Given the description of an element on the screen output the (x, y) to click on. 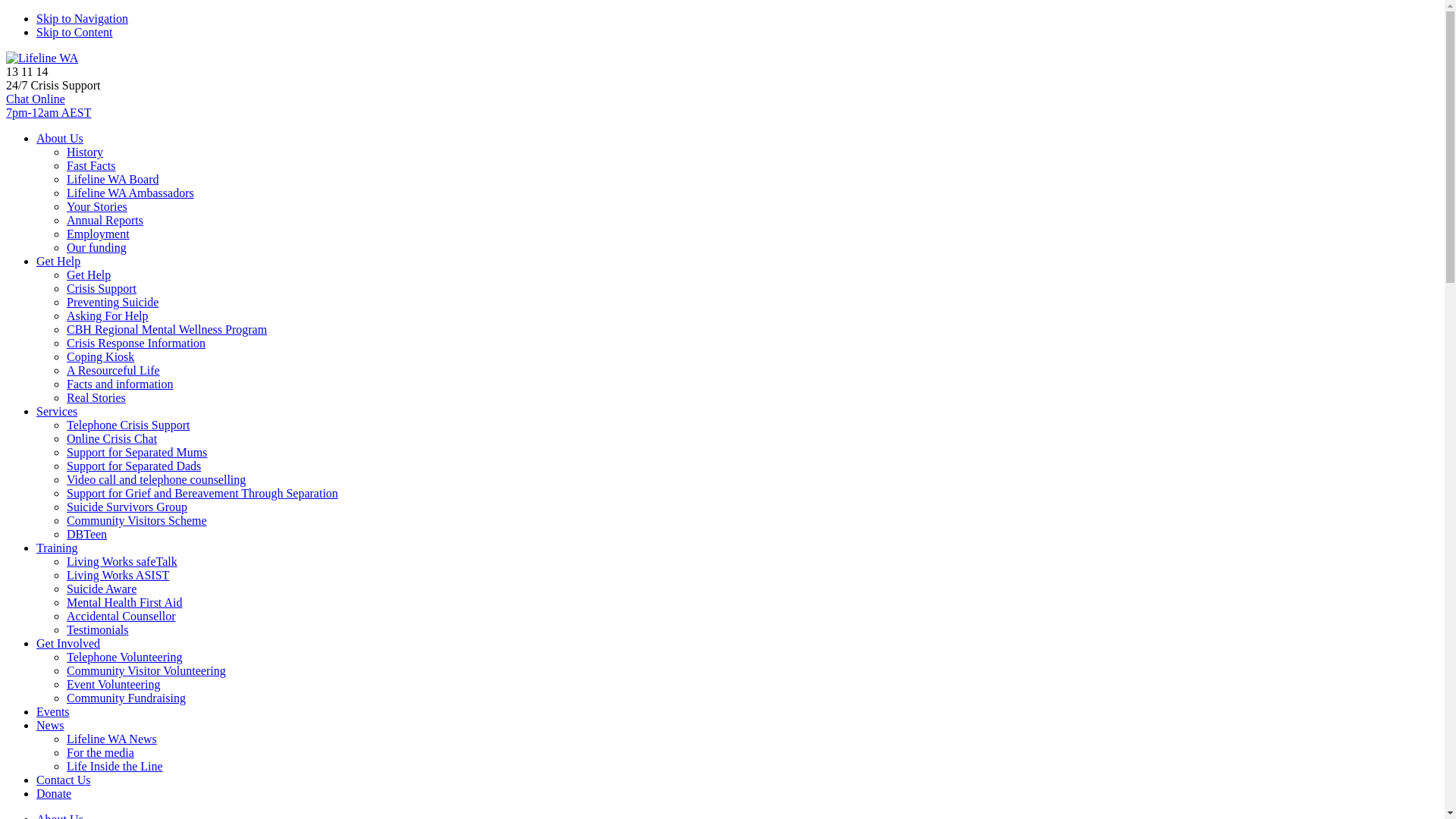
Chat Online
7pm-12am AEST Element type: text (722, 105)
Testimonials Element type: text (97, 629)
Crisis Support Element type: text (101, 288)
Annual Reports Element type: text (104, 219)
Telephone Crisis Support Element type: text (127, 424)
Donate Element type: text (53, 793)
Support for Grief and Bereavement Through Separation Element type: text (202, 492)
Get Help Element type: text (58, 260)
Training Element type: text (57, 547)
News Element type: text (49, 724)
Events Element type: text (52, 711)
Your Stories Element type: text (96, 206)
Telephone Volunteering Element type: text (124, 656)
Get Help Element type: text (88, 274)
DBTeen Element type: text (86, 533)
Asking For Help Element type: text (107, 315)
Skip to Content Element type: text (74, 31)
Living Works safeTalk Element type: text (121, 561)
Support for Separated Mums Element type: text (136, 451)
Video call and telephone counselling Element type: text (155, 479)
Support for Separated Dads Element type: text (133, 465)
Community Fundraising Element type: text (125, 697)
About Us Element type: text (59, 137)
Services Element type: text (56, 410)
History Element type: text (84, 151)
A Resourceful Life Element type: text (113, 370)
For the media Element type: text (100, 752)
Get Involved Element type: text (68, 643)
CBH Regional Mental Wellness Program Element type: text (166, 329)
Living Works ASIST Element type: text (117, 574)
Fast Facts Element type: text (90, 165)
Lifeline WA News Element type: text (111, 738)
Community Visitors Scheme Element type: text (136, 520)
Lifeline WA Ambassadors Element type: text (130, 192)
Online Crisis Chat Element type: text (111, 438)
Preventing Suicide Element type: text (112, 301)
Real Stories Element type: text (95, 397)
Life Inside the Line Element type: text (114, 765)
Crisis Response Information Element type: text (135, 342)
Skip to Navigation Element type: text (82, 18)
Suicide Aware Element type: text (101, 588)
Coping Kiosk Element type: text (100, 356)
Community Visitor Volunteering Element type: text (145, 670)
Employment Element type: text (97, 233)
Suicide Survivors Group Element type: text (126, 506)
Facts and information Element type: text (119, 383)
Our funding Element type: text (96, 247)
Event Volunteering Element type: text (113, 683)
Accidental Counsellor Element type: text (120, 615)
Mental Health First Aid Element type: text (124, 602)
Lifeline WA Board Element type: text (112, 178)
Contact Us Element type: text (63, 779)
